Given the description of an element on the screen output the (x, y) to click on. 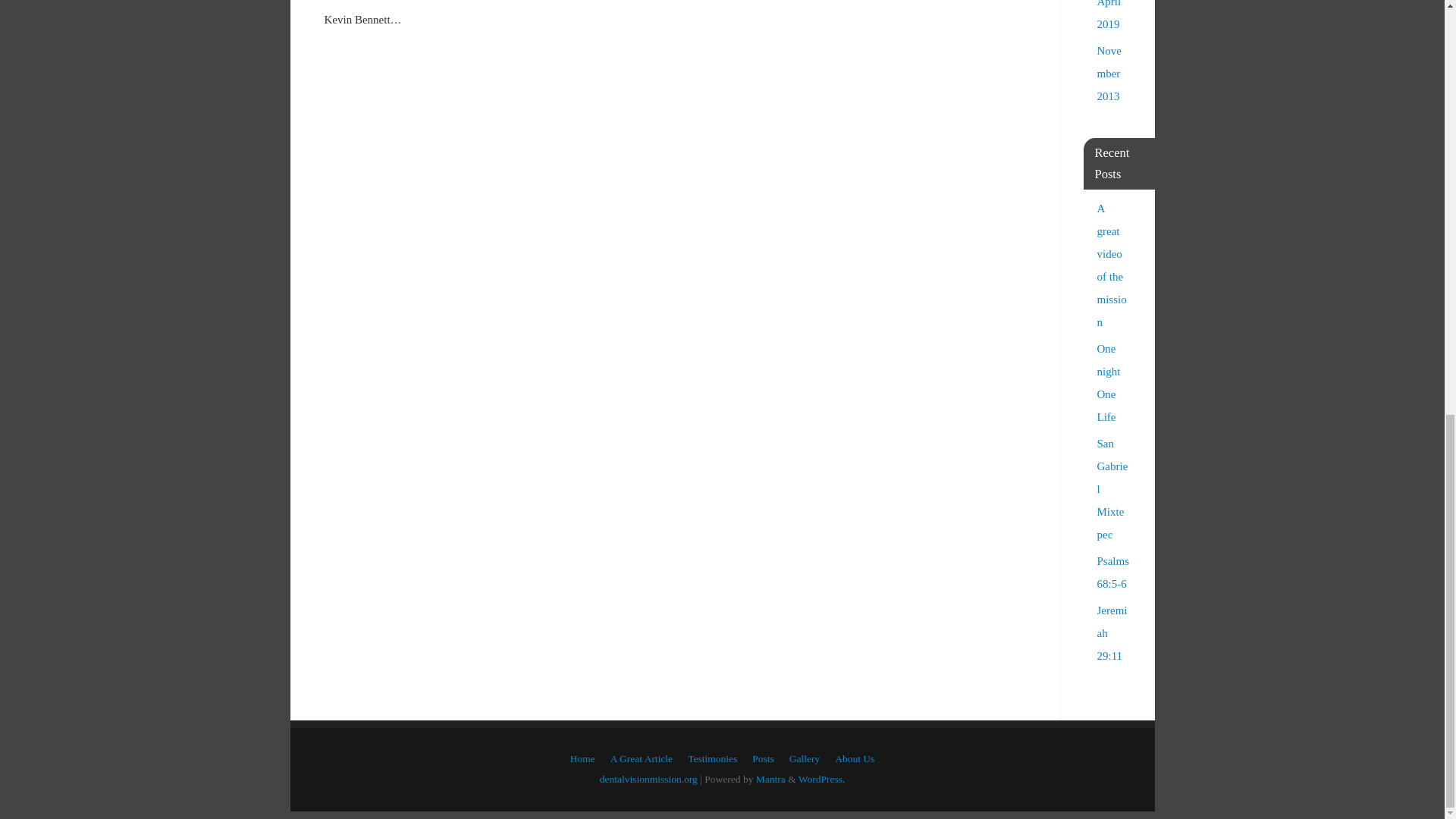
Gallery (804, 758)
dentalvisionmission.org (648, 778)
A Great Article (641, 758)
Testimonies (711, 758)
Psalms 68:5-6 (1112, 572)
Posts (763, 758)
dentalvisionmission.org (648, 778)
Home (582, 758)
WordPress. (821, 778)
About Us (854, 758)
